Given the description of an element on the screen output the (x, y) to click on. 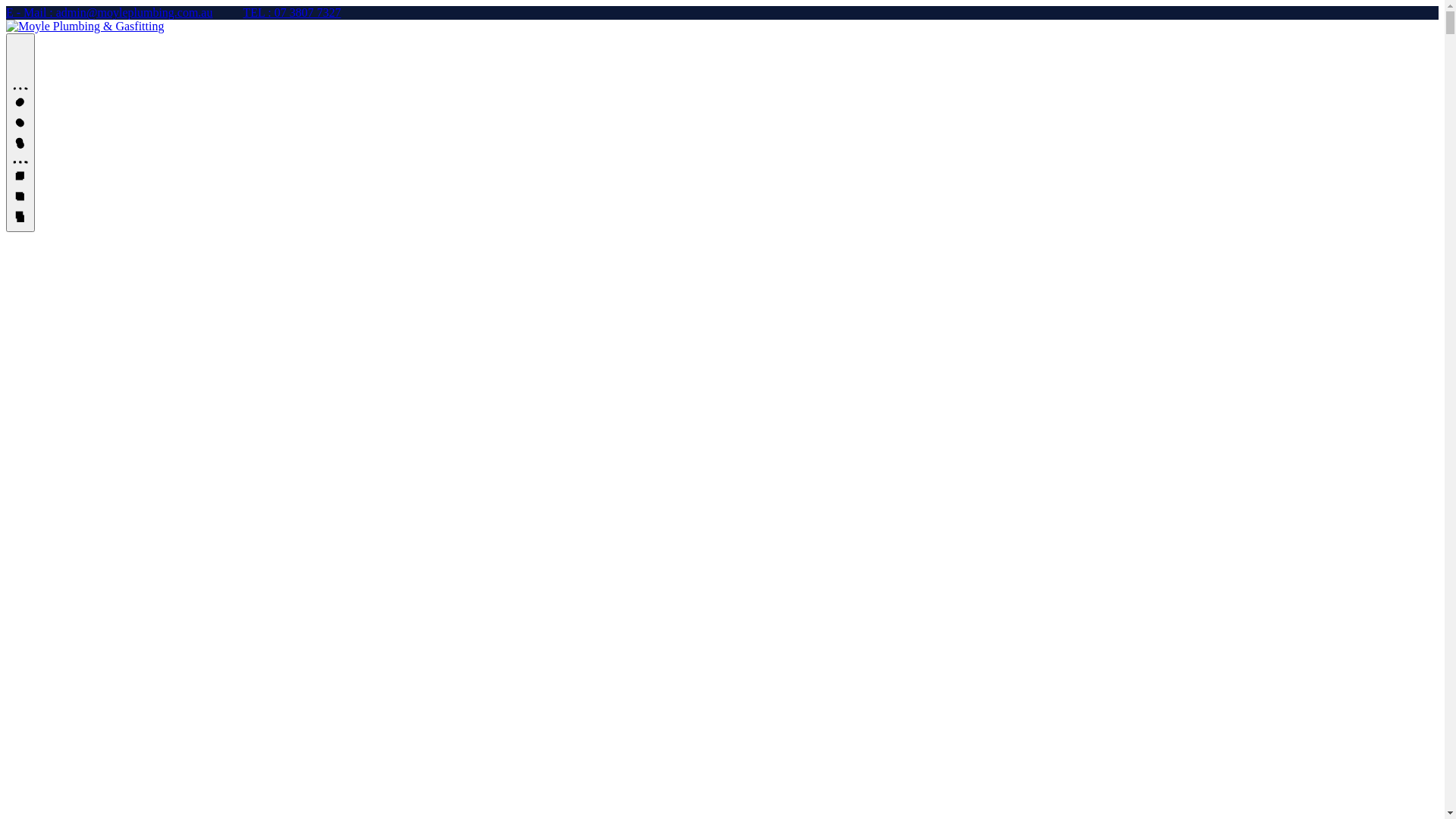
E - Mail : admin@moyleplumbing.com.au Element type: text (109, 12)
TEL : 07 3807 7327 Element type: text (291, 12)
